Given the description of an element on the screen output the (x, y) to click on. 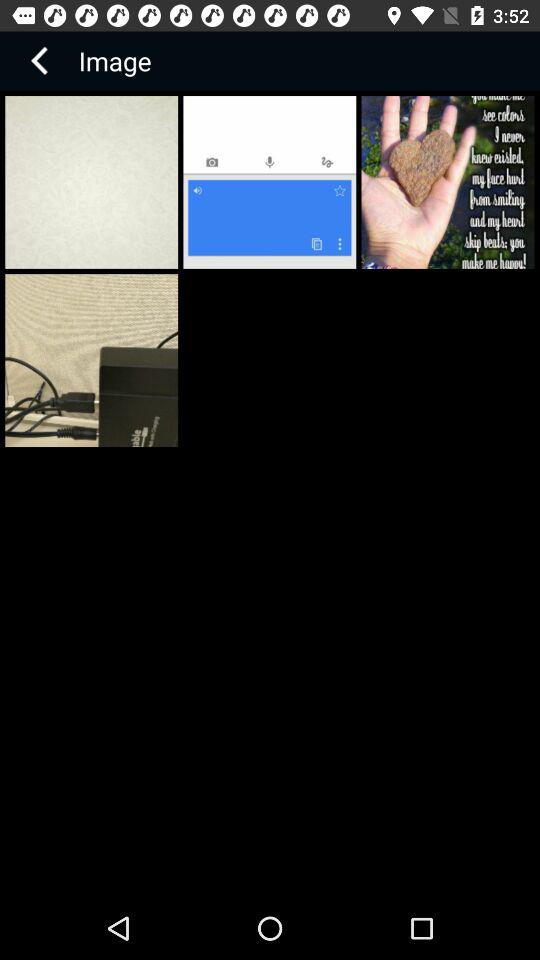
press the item to the left of the image (39, 60)
